Given the description of an element on the screen output the (x, y) to click on. 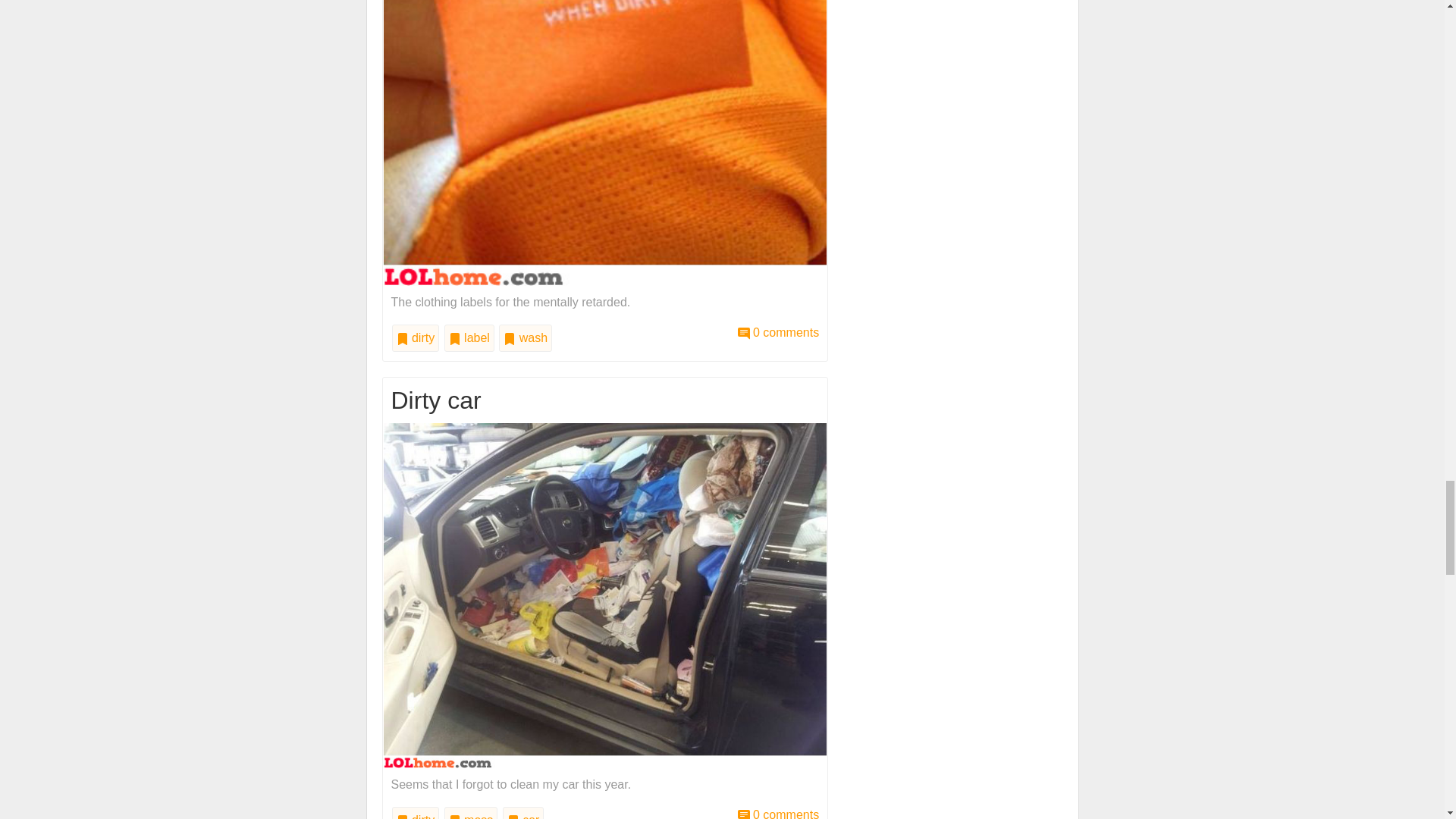
dirty (415, 338)
Dirty car (605, 594)
Dirty car (778, 813)
Wash when dirty (778, 332)
